Given the description of an element on the screen output the (x, y) to click on. 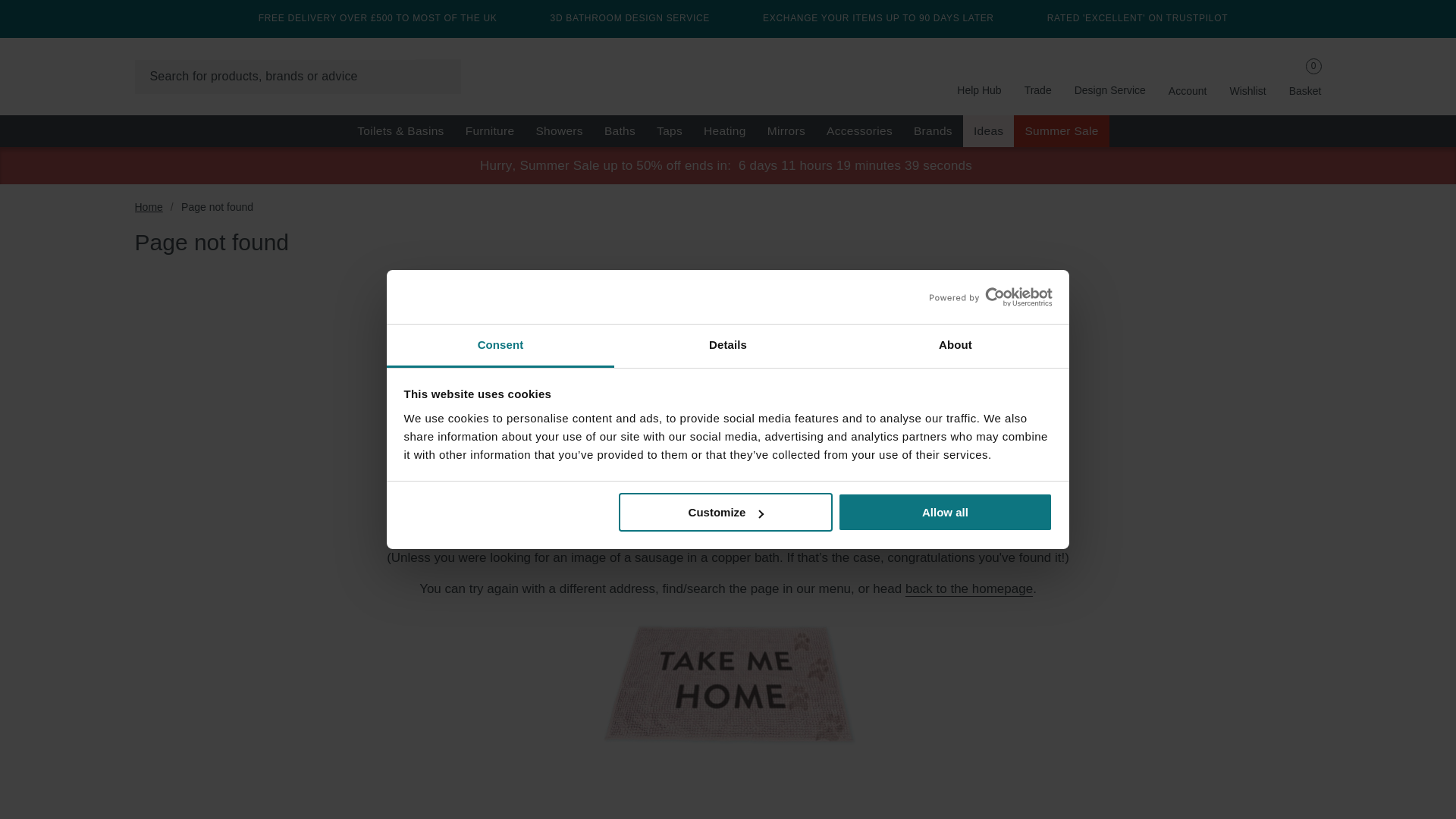
Details (727, 345)
About (954, 345)
Consent (500, 345)
